Given the description of an element on the screen output the (x, y) to click on. 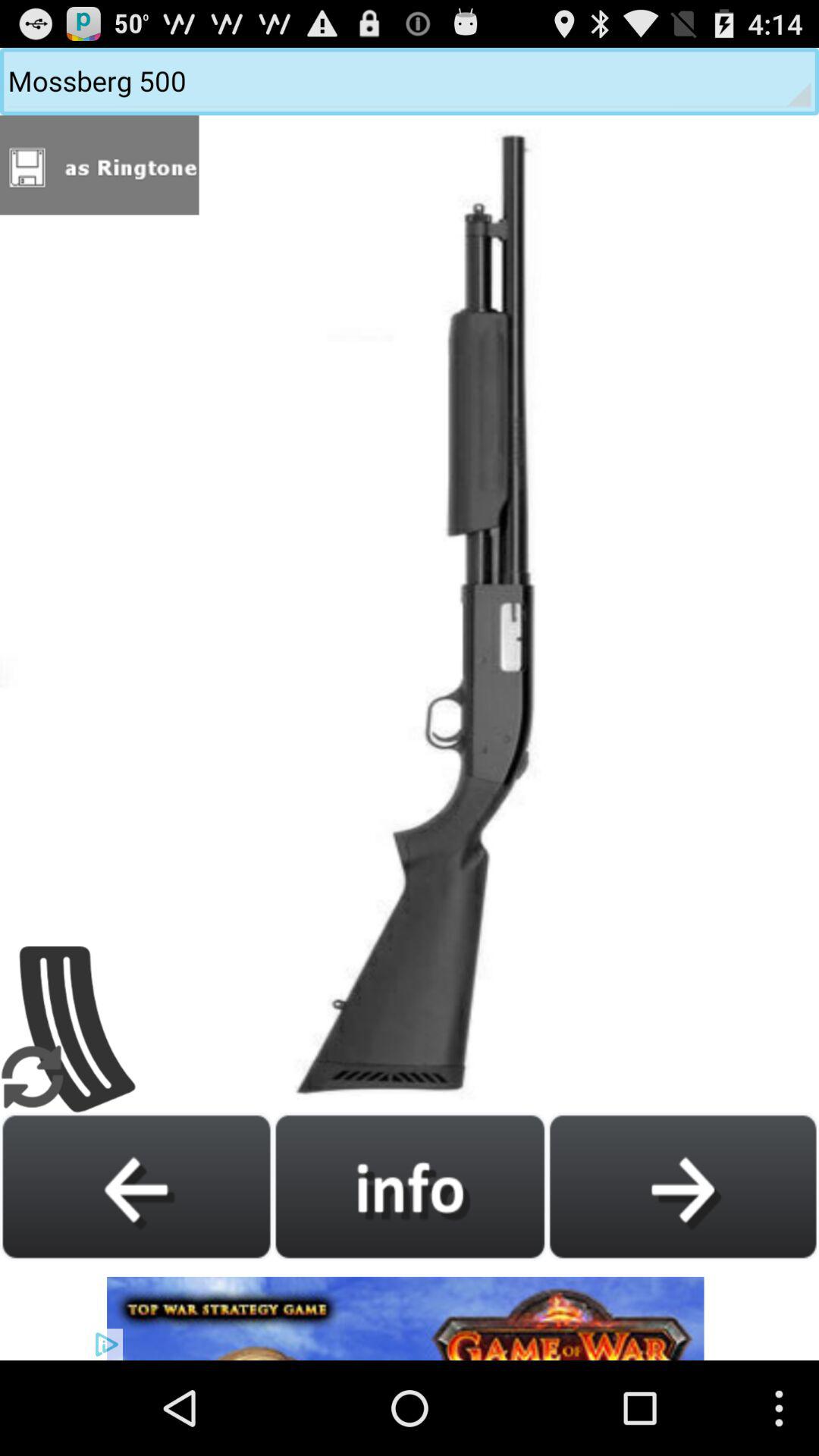
go forward (683, 1186)
